Given the description of an element on the screen output the (x, y) to click on. 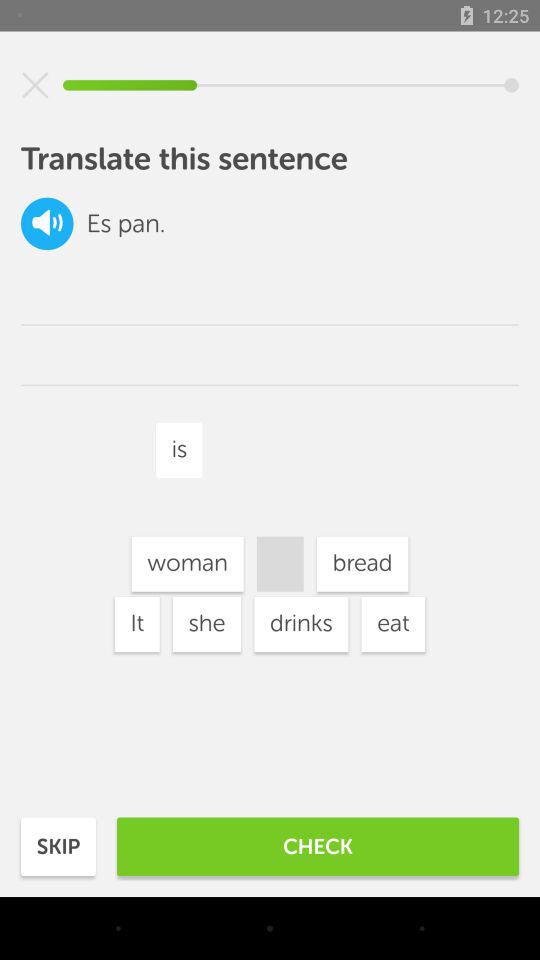
click the item next to drinks (206, 624)
